Given the description of an element on the screen output the (x, y) to click on. 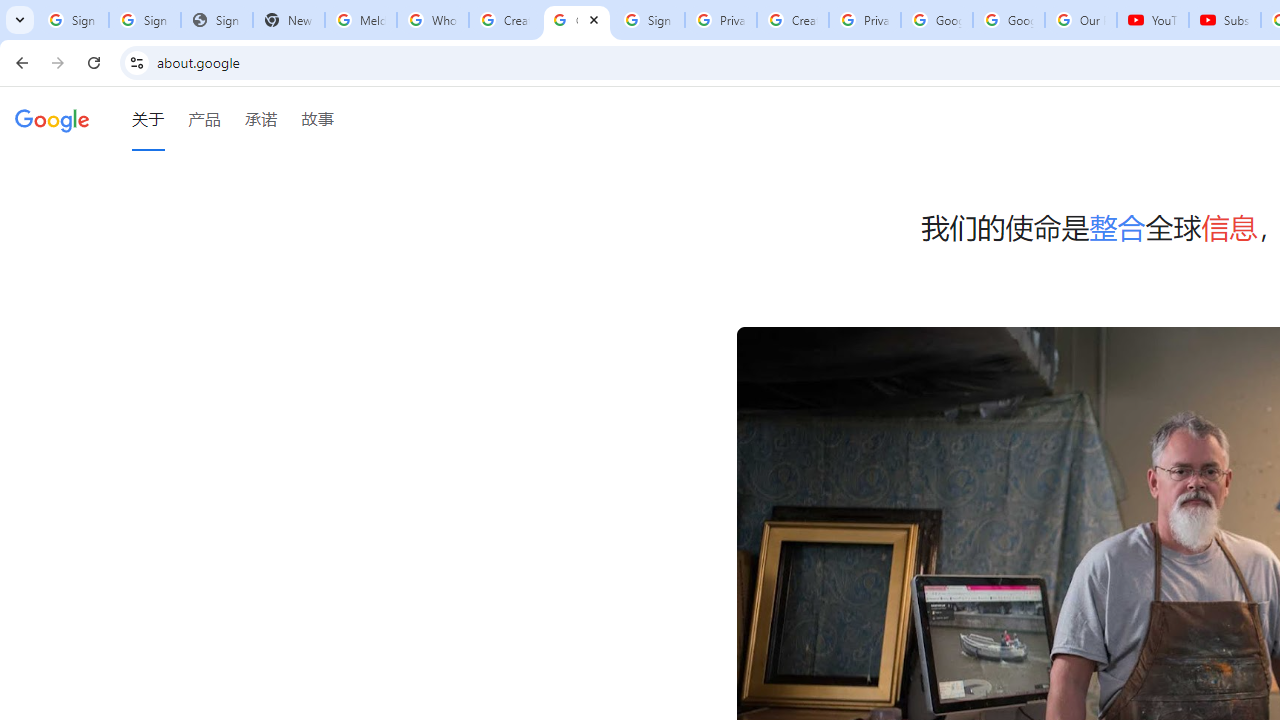
Sign in - Google Accounts (72, 20)
Who is my administrator? - Google Account Help (432, 20)
Create your Google Account (792, 20)
New Tab (289, 20)
Google Account (1008, 20)
Create your Google Account (504, 20)
